Given the description of an element on the screen output the (x, y) to click on. 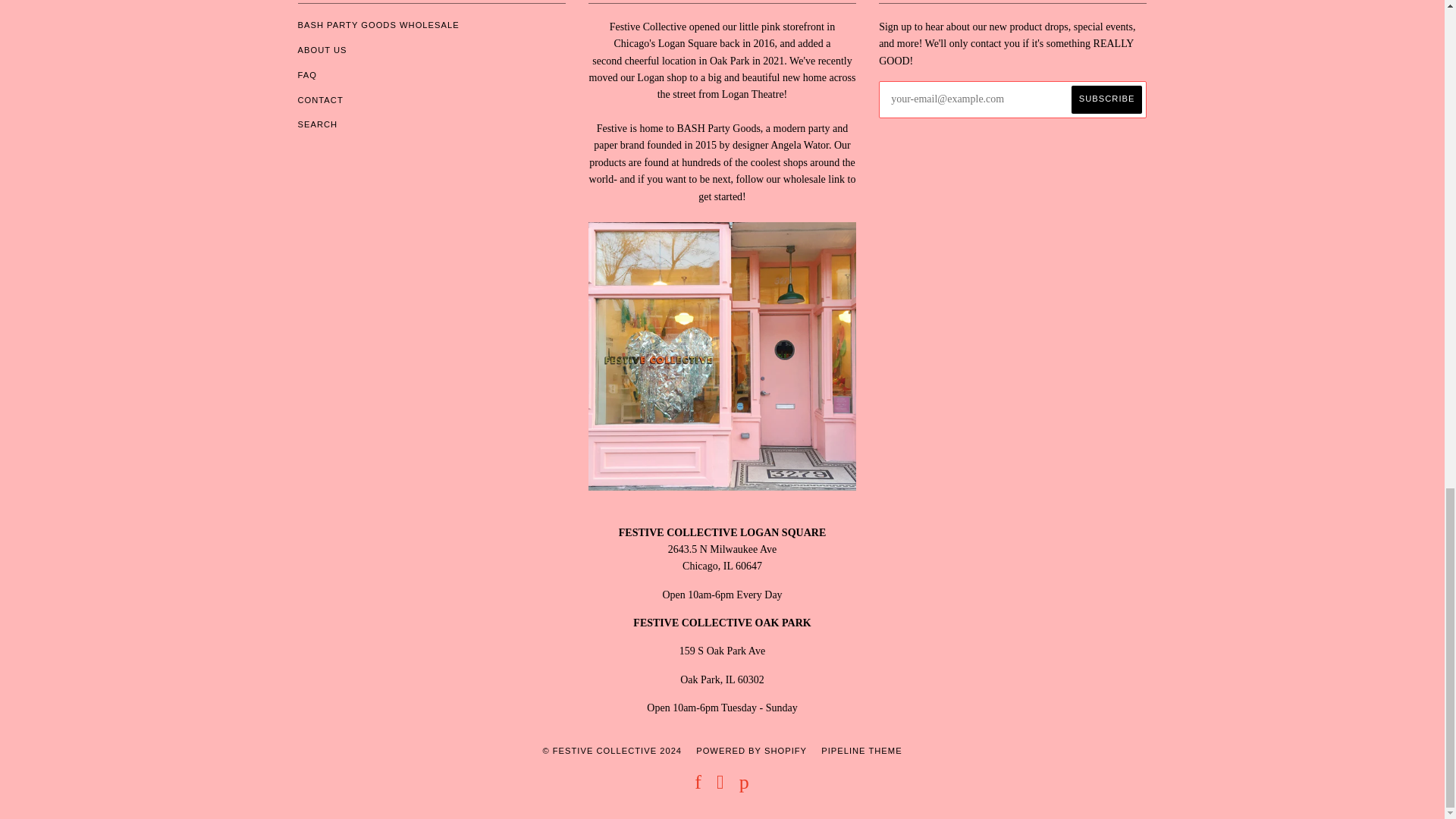
FAQ (306, 74)
CONTACT (319, 99)
SEARCH (317, 123)
Subscribe (1106, 99)
ABOUT US (321, 49)
Subscribe (1106, 99)
BASH PARTY GOODS WHOLESALE (377, 24)
Festive Collective on Pinterest (744, 785)
Festive Collective on Instagram (720, 785)
